Given the description of an element on the screen output the (x, y) to click on. 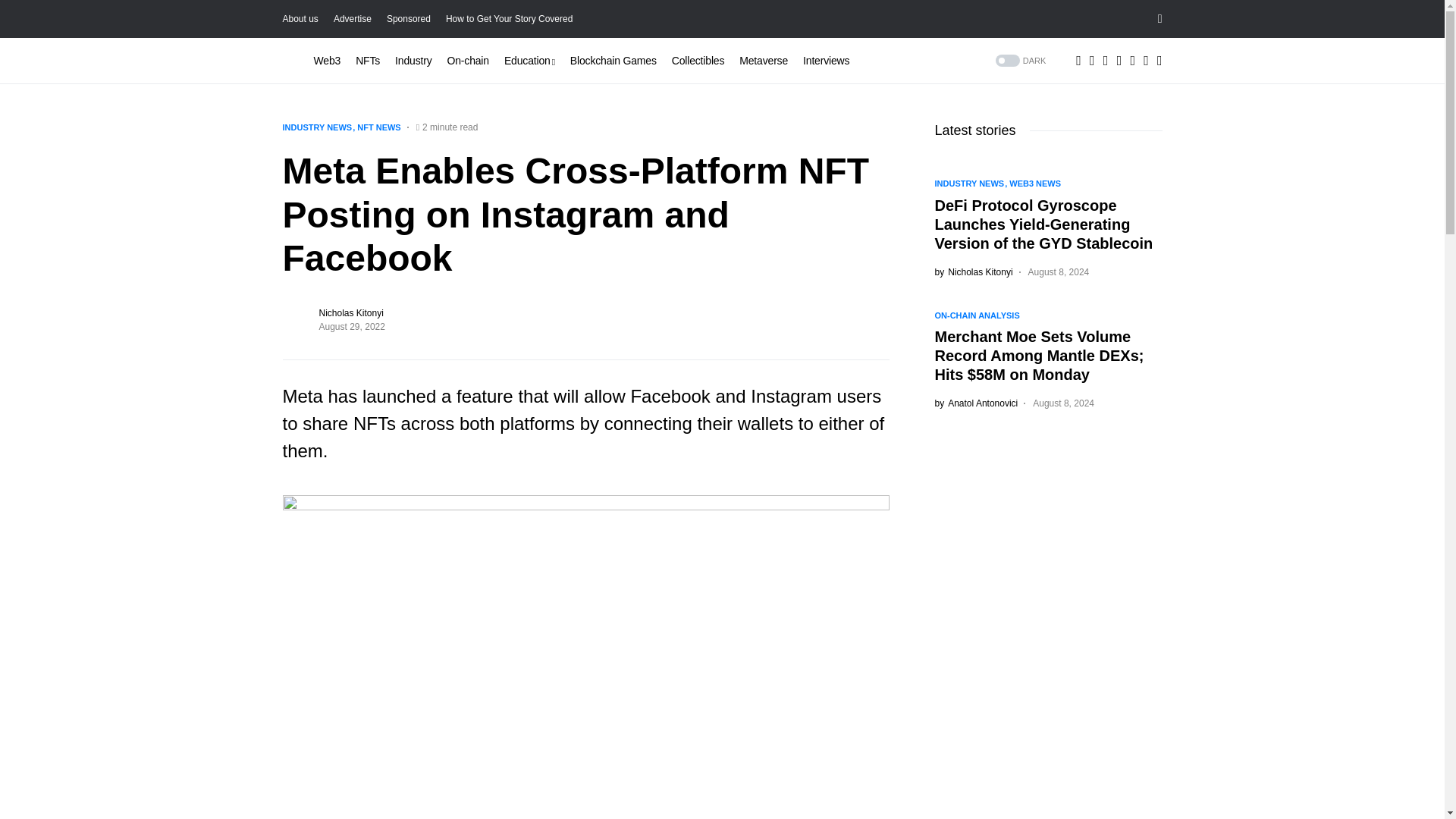
View all posts by Anatol Antonovici (975, 403)
Metaverse (763, 60)
Interviews (825, 60)
Collectibles (698, 60)
View all posts by Nicholas Kitonyi (972, 272)
About us (299, 18)
Advertise (352, 18)
Education (528, 60)
Sponsored (408, 18)
Blockchain Games (613, 60)
